Given the description of an element on the screen output the (x, y) to click on. 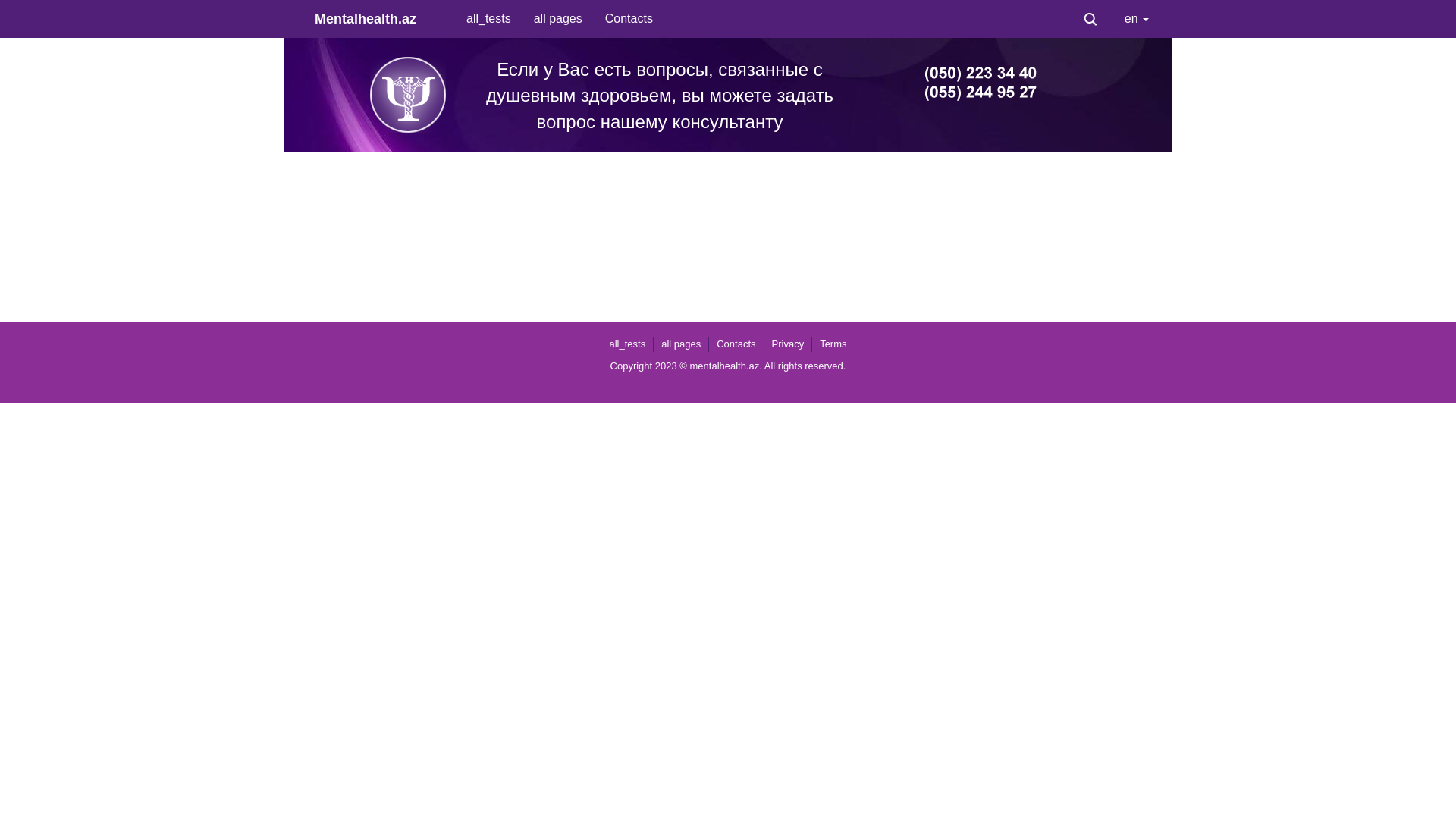
en Element type: text (1136, 18)
Contacts Element type: text (735, 343)
all pages Element type: text (680, 343)
all_tests Element type: text (488, 18)
Mentalhealth.az Element type: text (379, 18)
Privacy Element type: text (787, 343)
all pages Element type: text (557, 18)
Contacts Element type: text (628, 18)
all_tests Element type: text (626, 343)
Terms Element type: text (832, 343)
